Given the description of an element on the screen output the (x, y) to click on. 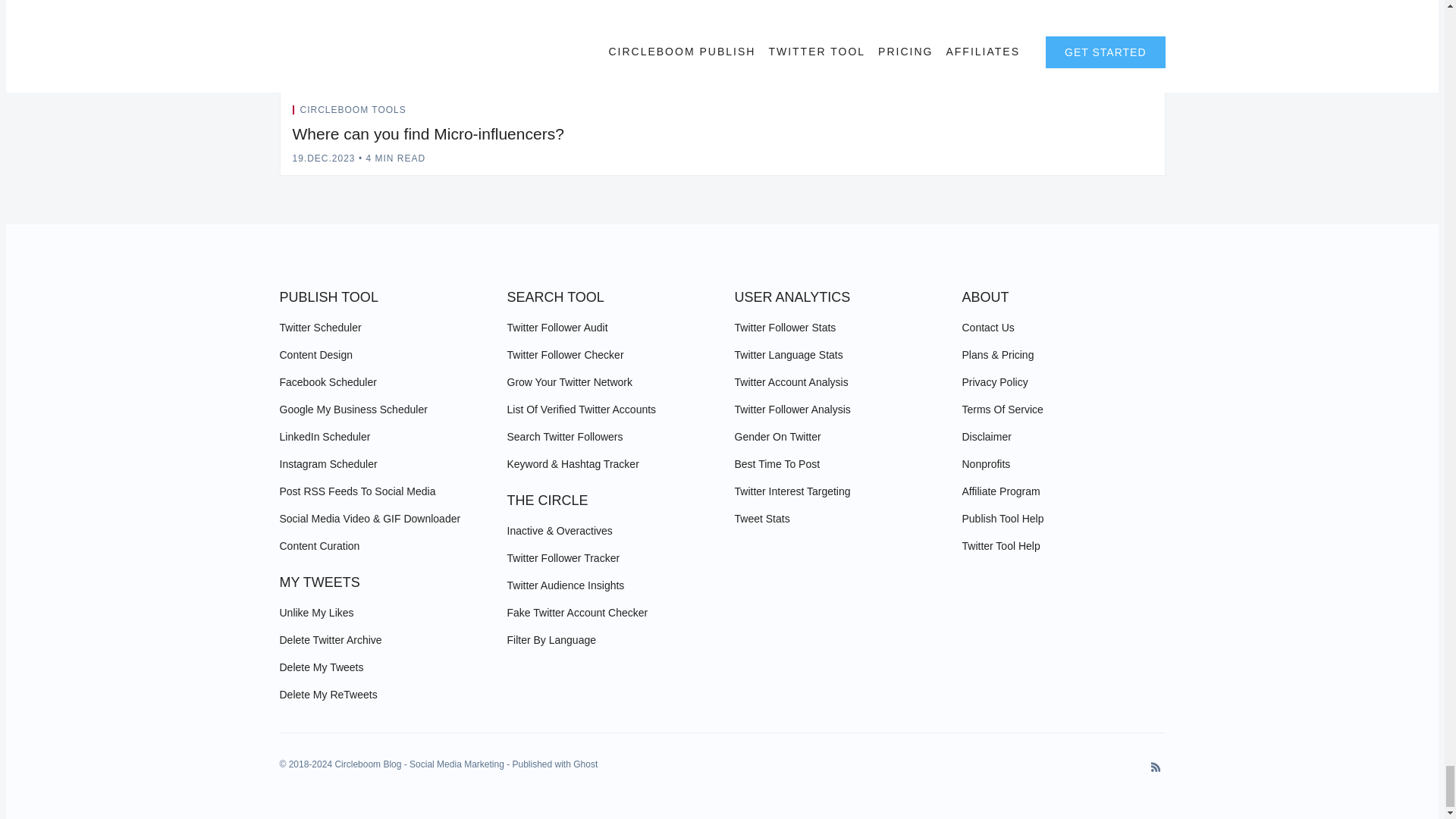
19 December 2023 (323, 158)
